Given the description of an element on the screen output the (x, y) to click on. 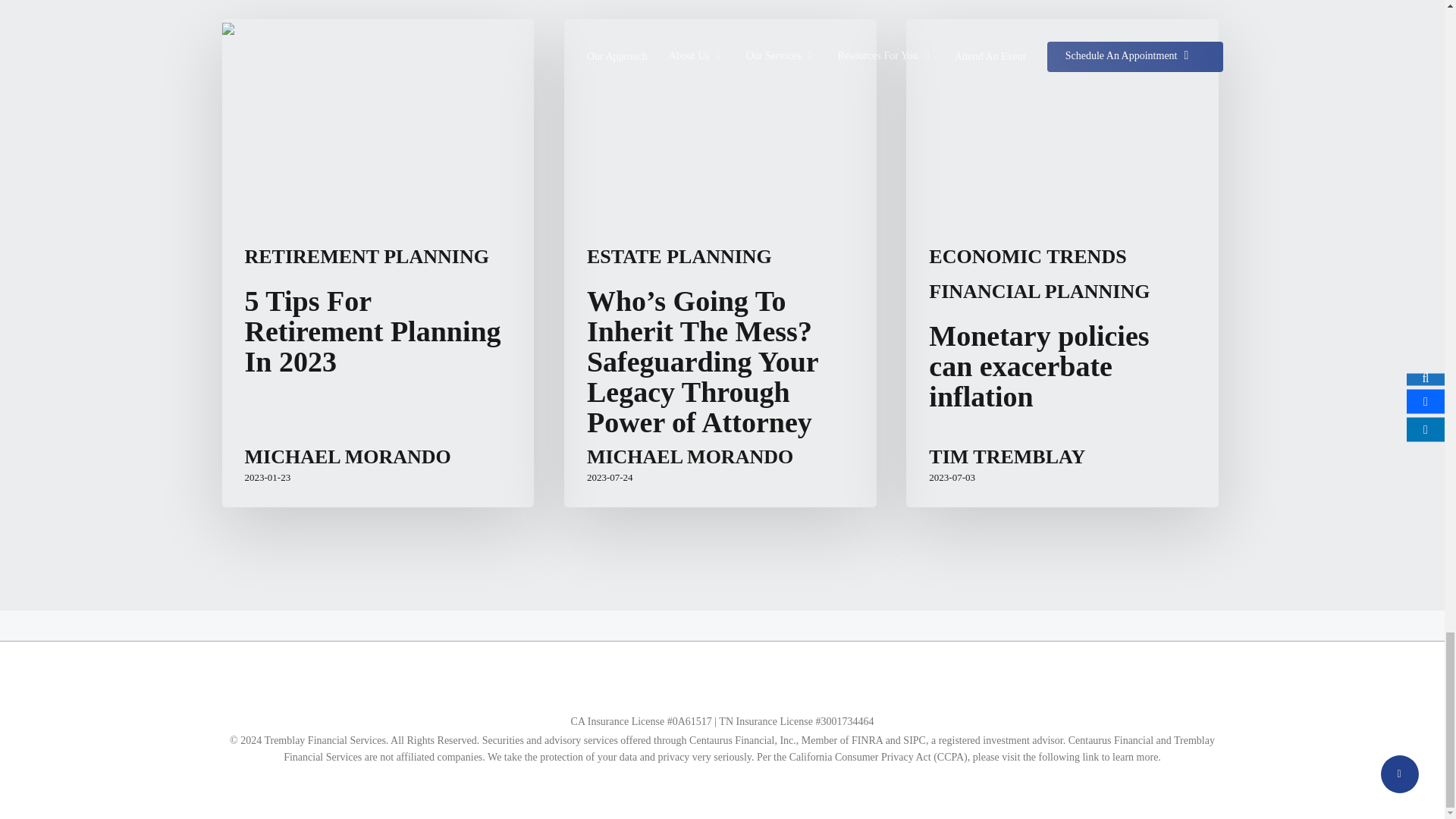
MICHAEL MORANDO (689, 456)
RETIREMENT PLANNING (365, 257)
MICHAEL MORANDO (346, 456)
ESTATE PLANNING (678, 257)
